Given the description of an element on the screen output the (x, y) to click on. 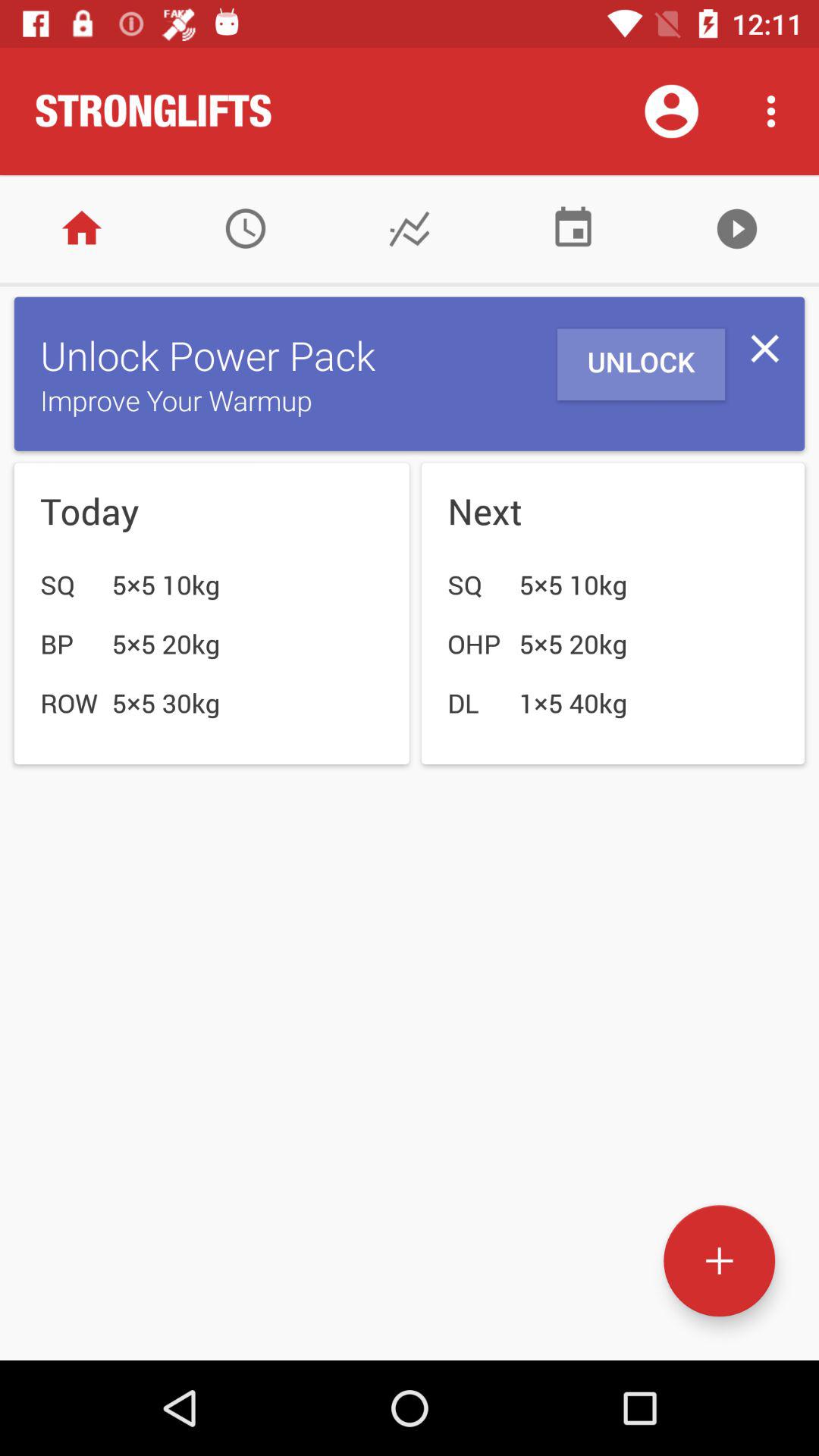
adding button (719, 1260)
